Given the description of an element on the screen output the (x, y) to click on. 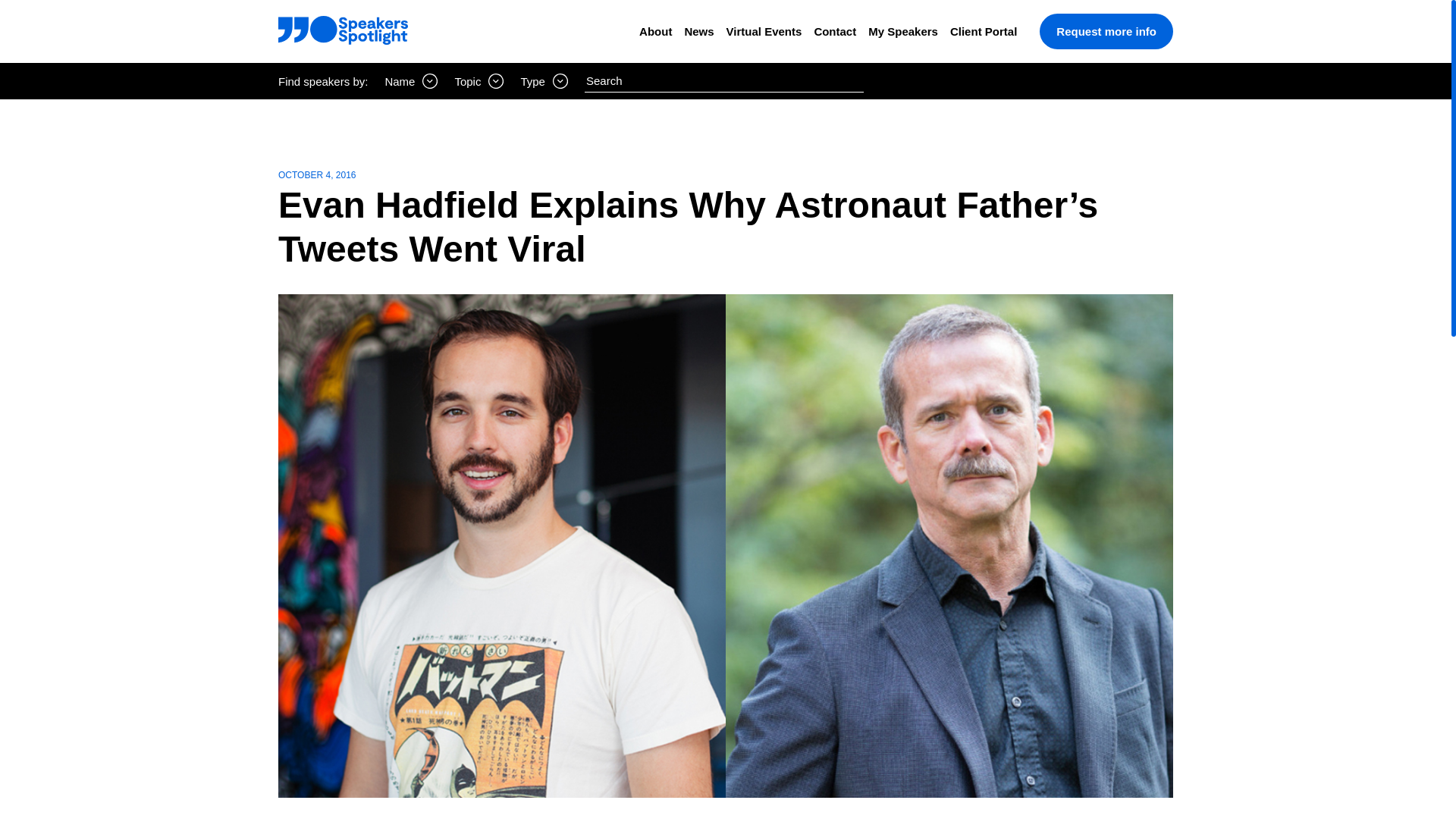
Virtual Events (764, 31)
Contact (834, 31)
Request more info (1106, 31)
My Speakers (902, 31)
About (655, 31)
Name (411, 80)
Client Portal (983, 31)
